Given the description of an element on the screen output the (x, y) to click on. 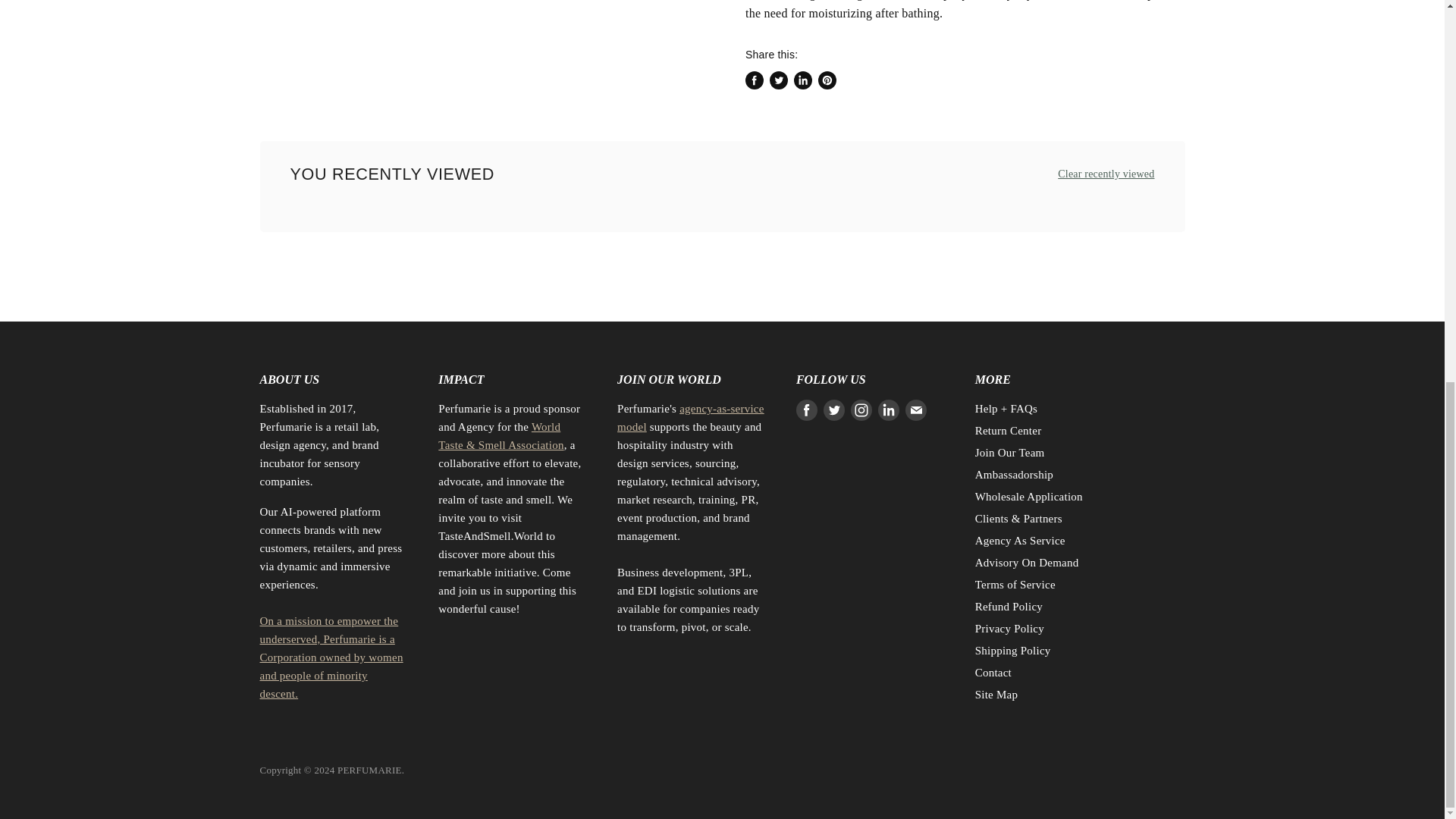
LinkedIn (888, 410)
Instagram (861, 410)
E-mail (916, 410)
Facebook (807, 410)
Twitter (834, 410)
